Given the description of an element on the screen output the (x, y) to click on. 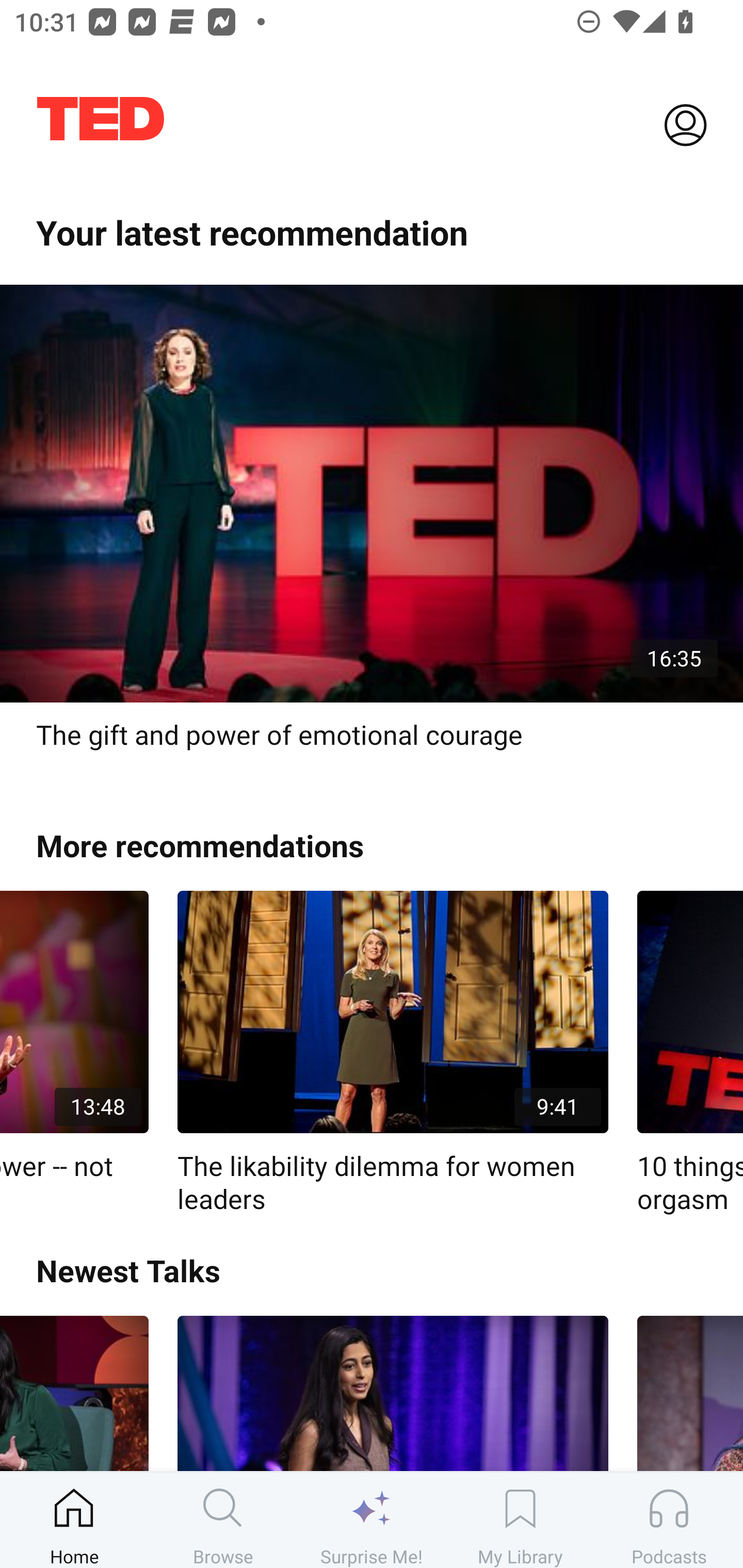
9:41 The likability dilemma for women leaders (392, 1053)
Home (74, 1520)
Browse (222, 1520)
Surprise Me! (371, 1520)
My Library (519, 1520)
Podcasts (668, 1520)
